Given the description of an element on the screen output the (x, y) to click on. 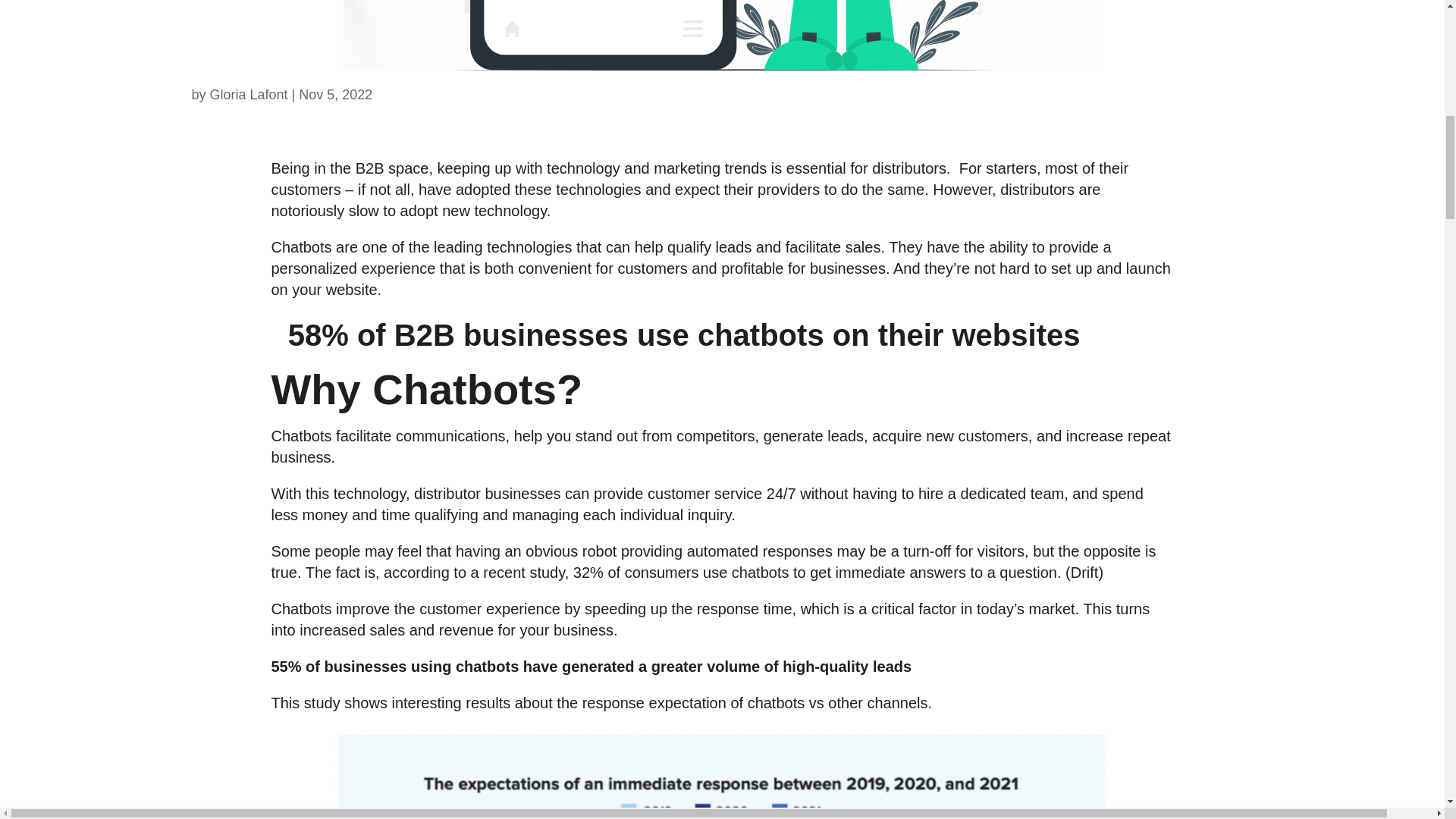
Posts by Gloria Lafont (248, 94)
how-Chatbot-can-help-grow-your-business (721, 35)
Gloria Lafont (248, 94)
